Given the description of an element on the screen output the (x, y) to click on. 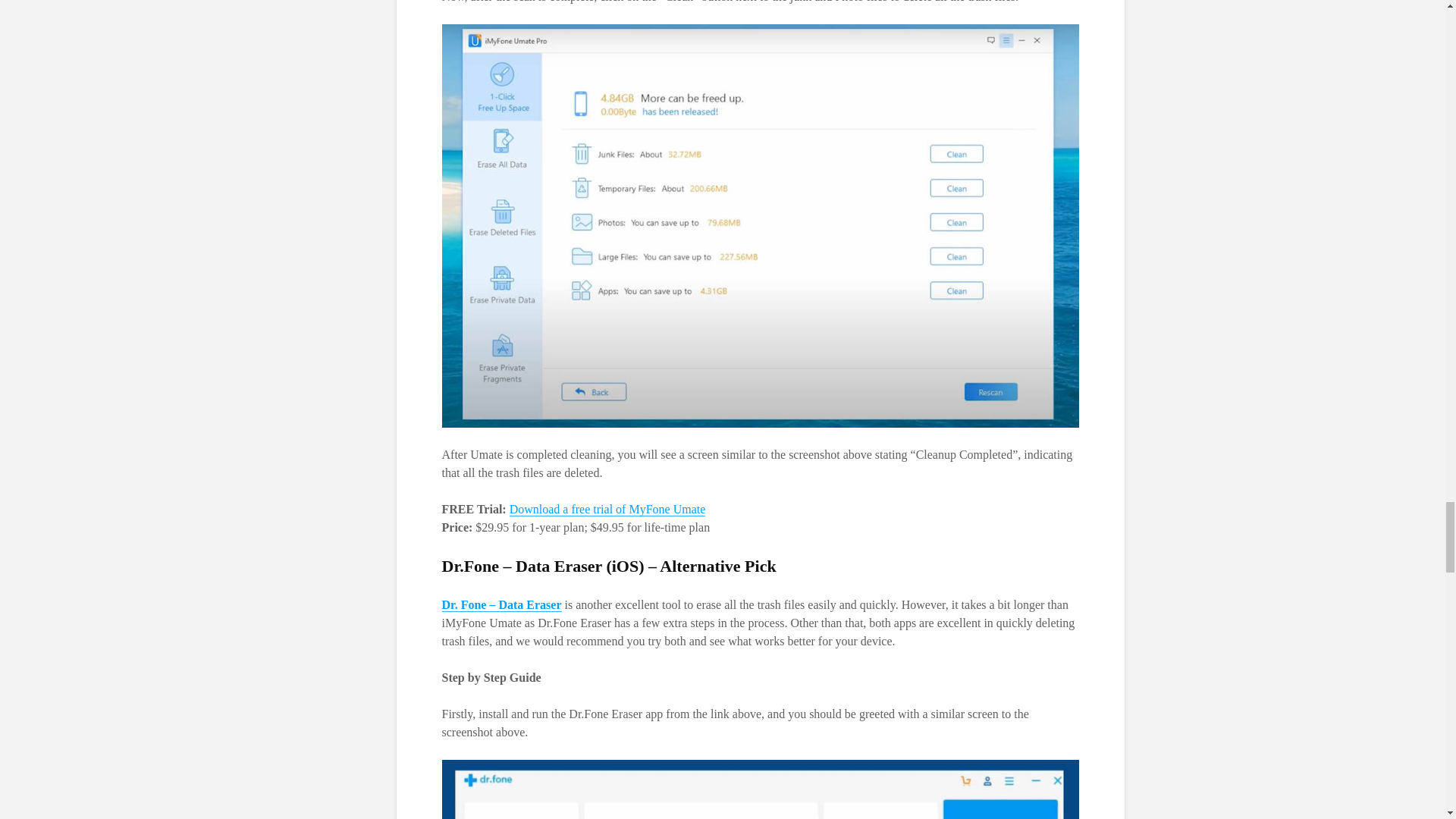
Drfone DataEraser (500, 604)
Download a free trial of MyFone Umate (607, 509)
iMyFone Umate (607, 509)
